Given the description of an element on the screen output the (x, y) to click on. 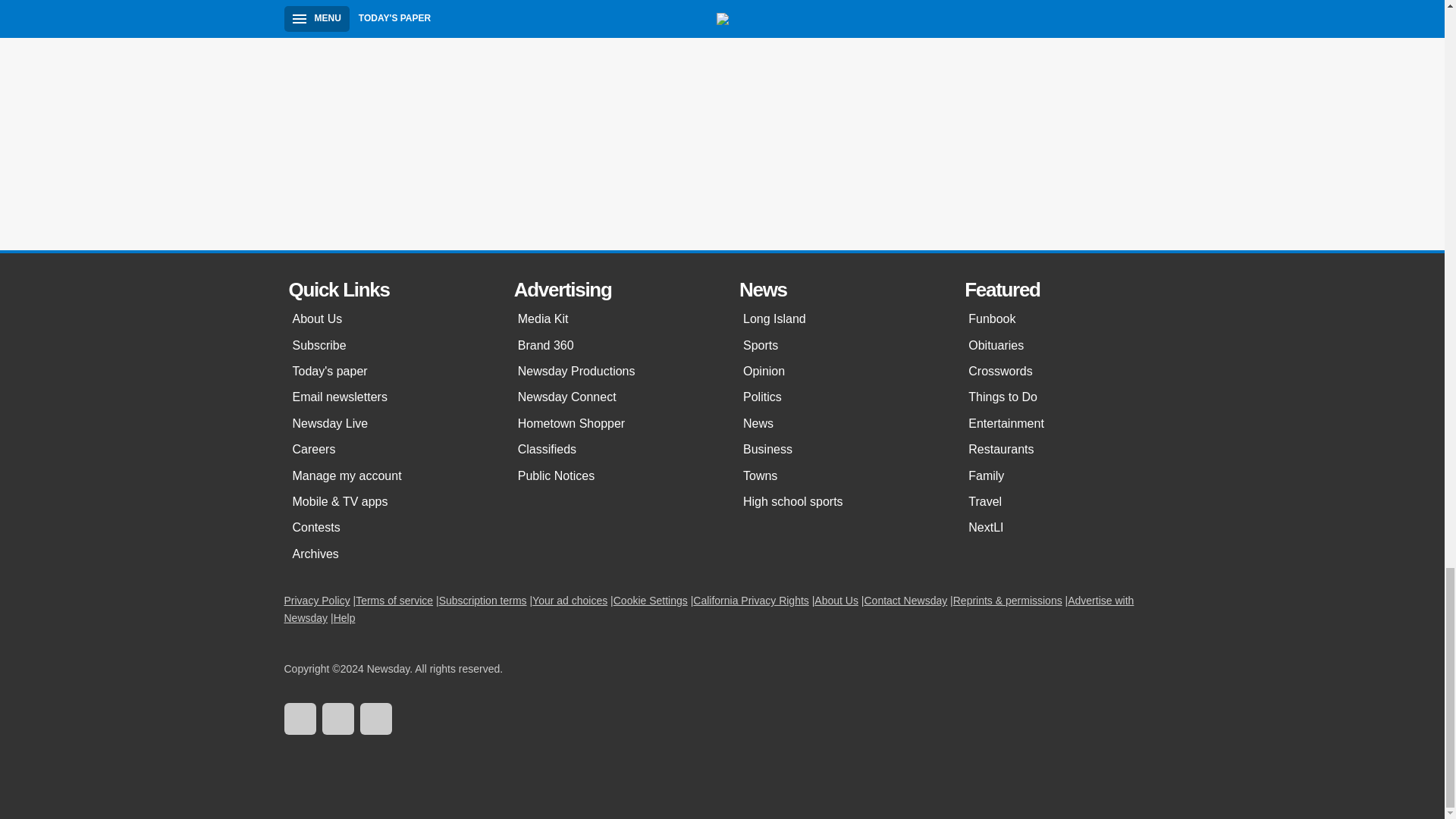
Today's paper (387, 371)
Subscribe (387, 345)
Newsday Live (387, 423)
Manage my account (387, 475)
Email newsletters (387, 397)
Careers (387, 449)
About Us (387, 319)
Contests (387, 527)
Archives (387, 554)
